Given the description of an element on the screen output the (x, y) to click on. 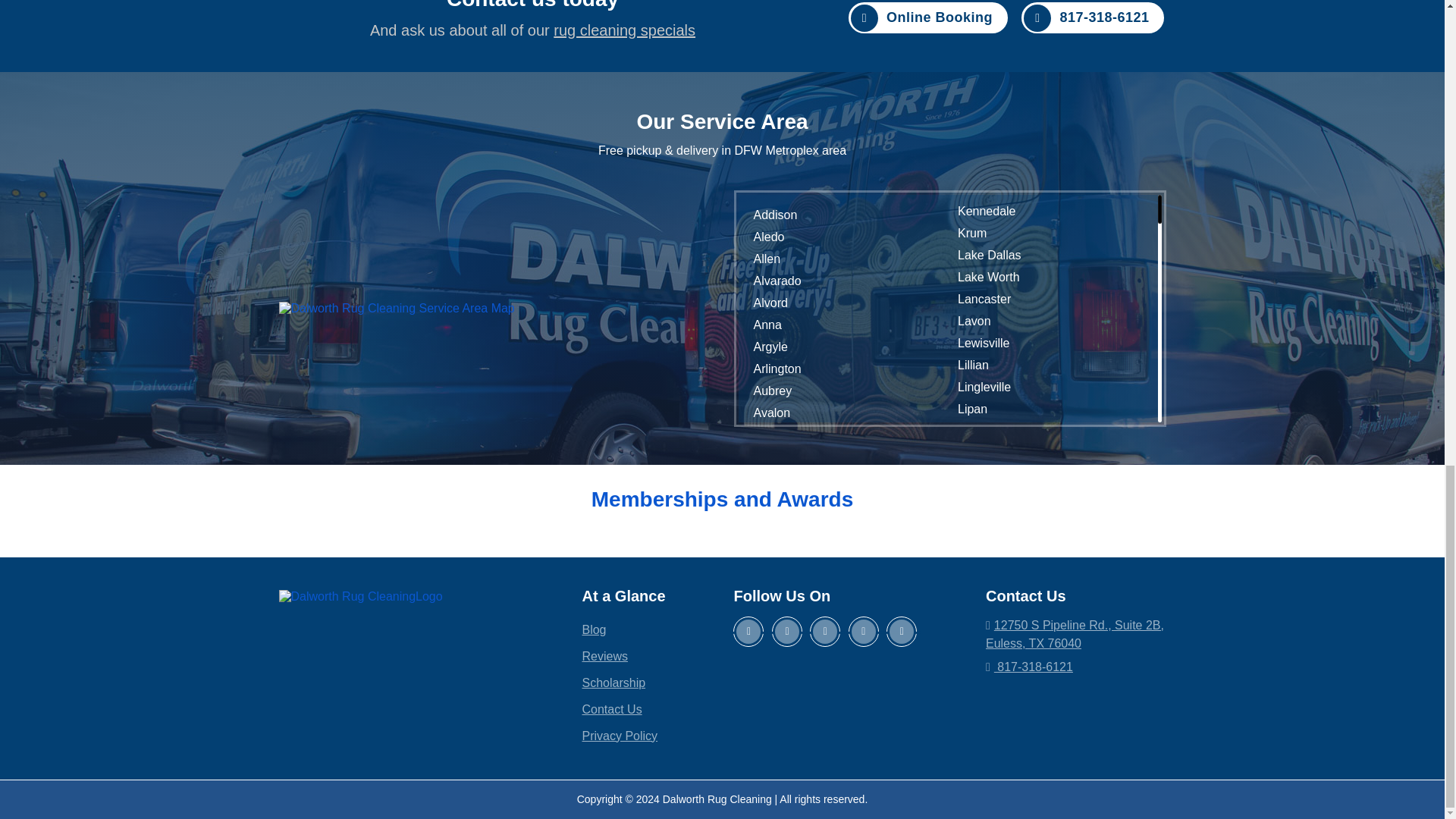
View us on Google Map (1074, 634)
View Our Youtube Page (824, 631)
View Our facebook Page (747, 631)
View Our Twitter Page (786, 631)
View Our Instagram Page (863, 631)
Call Us Now (1075, 667)
View Our Google My Business Page (901, 631)
